Given the description of an element on the screen output the (x, y) to click on. 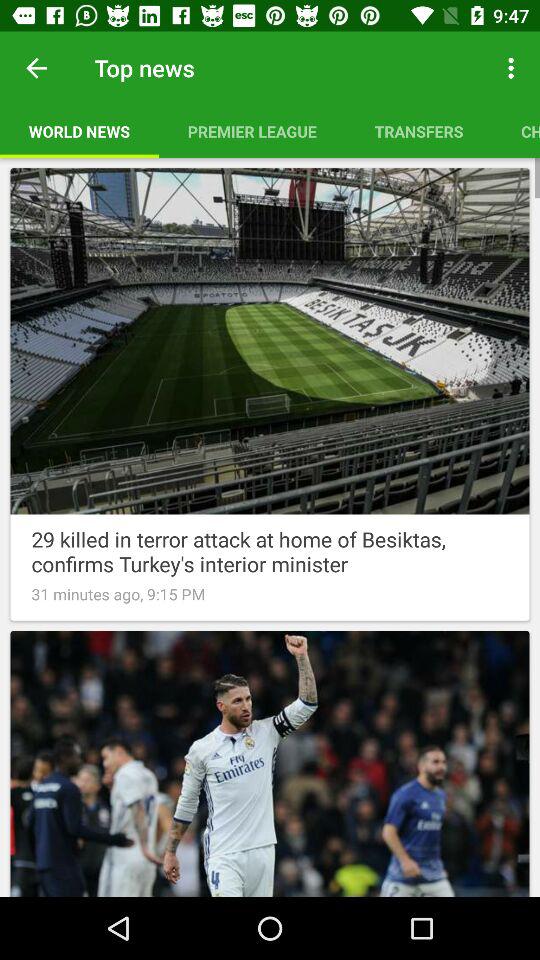
open the icon next to champions league item (418, 131)
